Given the description of an element on the screen output the (x, y) to click on. 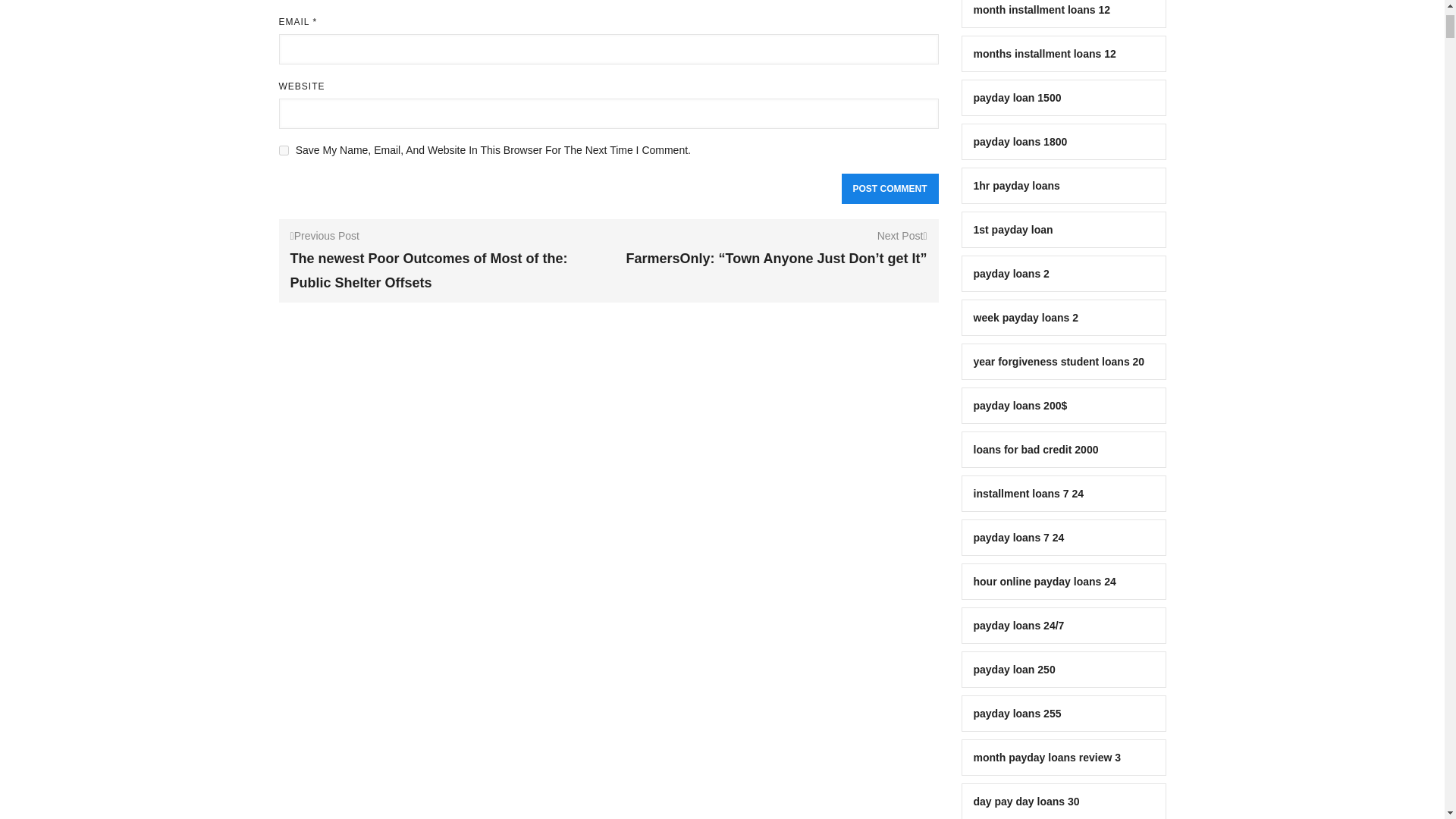
Post Comment (890, 188)
yes (283, 150)
Post Comment (890, 188)
